Given the description of an element on the screen output the (x, y) to click on. 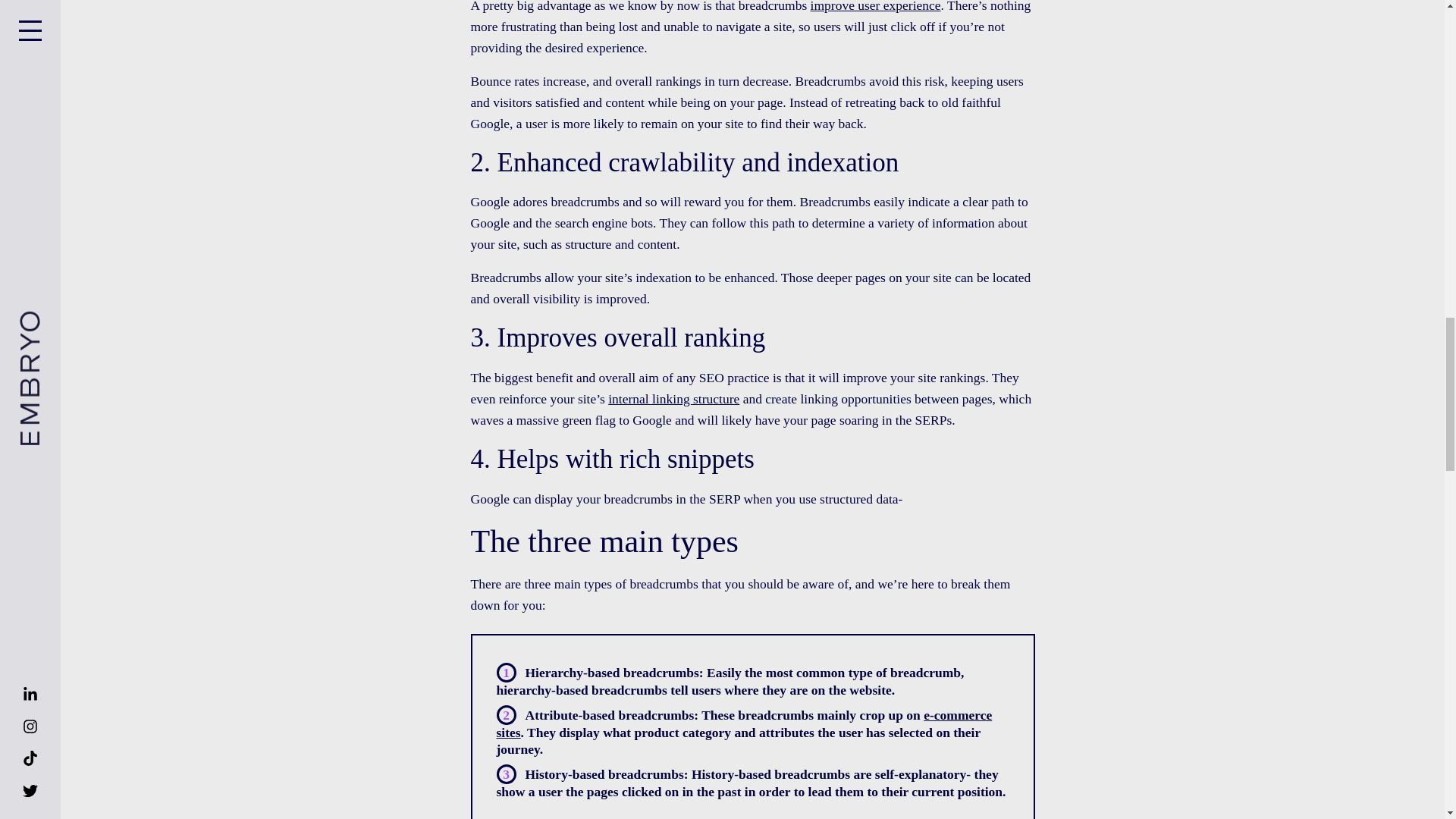
e-commerce sites (743, 723)
internal linking structure (673, 398)
improve user experience (875, 6)
